Given the description of an element on the screen output the (x, y) to click on. 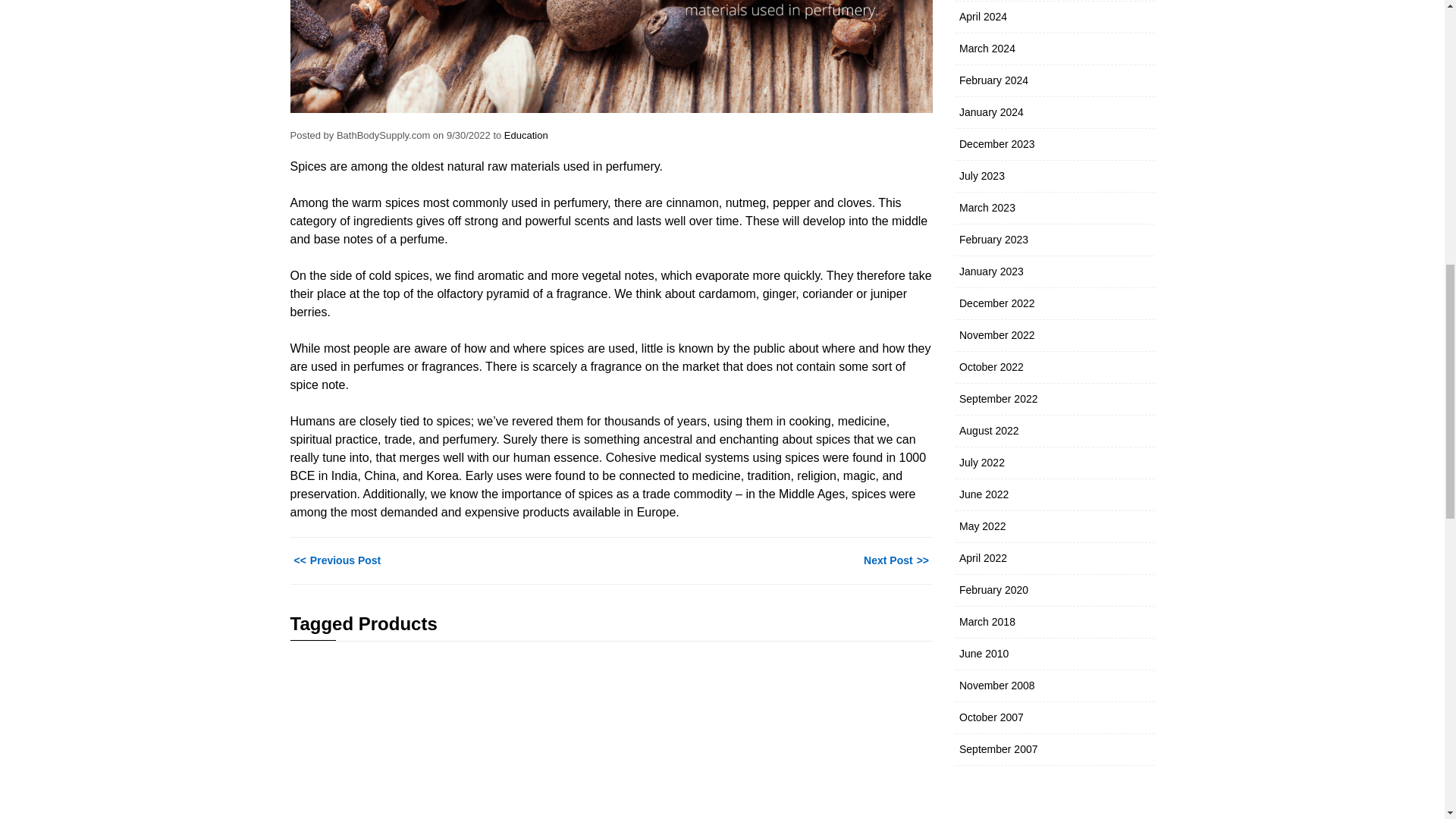
Next Post (898, 560)
Education (525, 134)
Previous Post (334, 560)
